Given the description of an element on the screen output the (x, y) to click on. 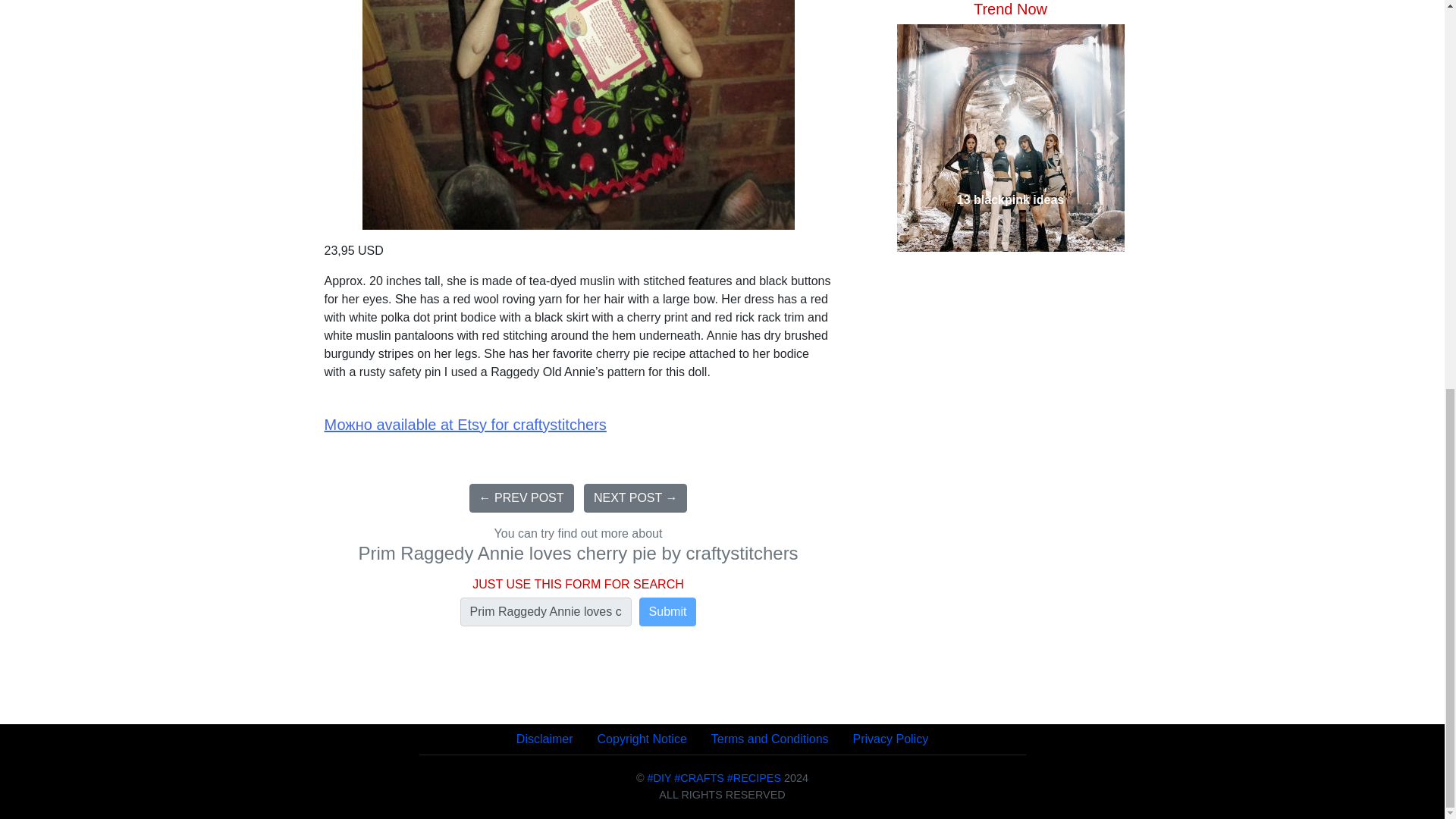
13 blackpink ideas (1009, 51)
13 blackpink ideas (1009, 50)
13 blackpink ideas (1009, 50)
Prim Raggedy Annie loves cherry (545, 611)
Submit (668, 611)
